Given the description of an element on the screen output the (x, y) to click on. 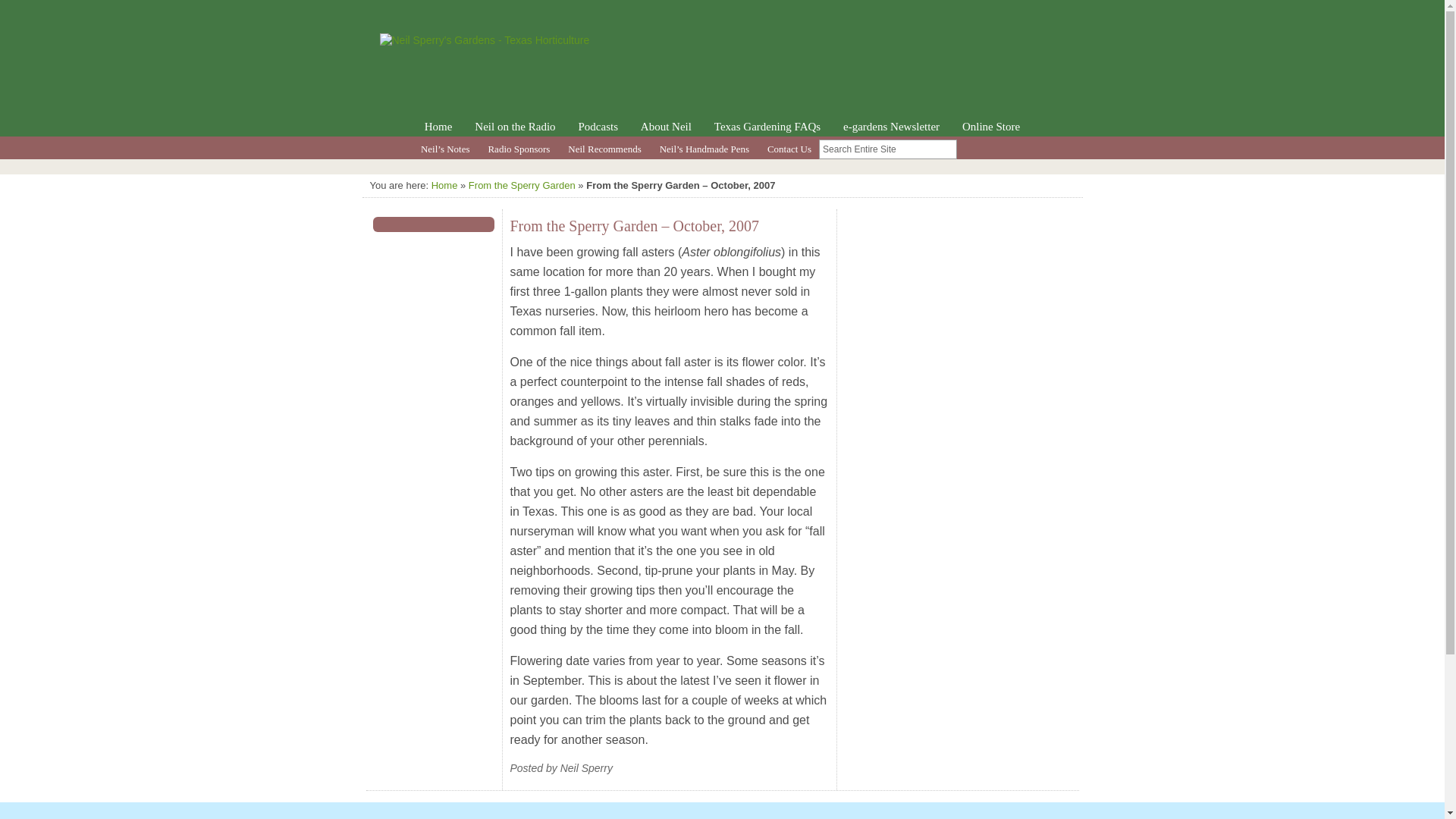
From the Sperry Garden (521, 184)
Search Entire Site (887, 148)
Home (438, 126)
Contact Us (788, 148)
Texas Gardening FAQs (767, 126)
Neil on the Radio (514, 126)
e-gardens Newsletter (891, 126)
Radio Sponsors (518, 148)
Go (969, 149)
Go (969, 149)
